Given the description of an element on the screen output the (x, y) to click on. 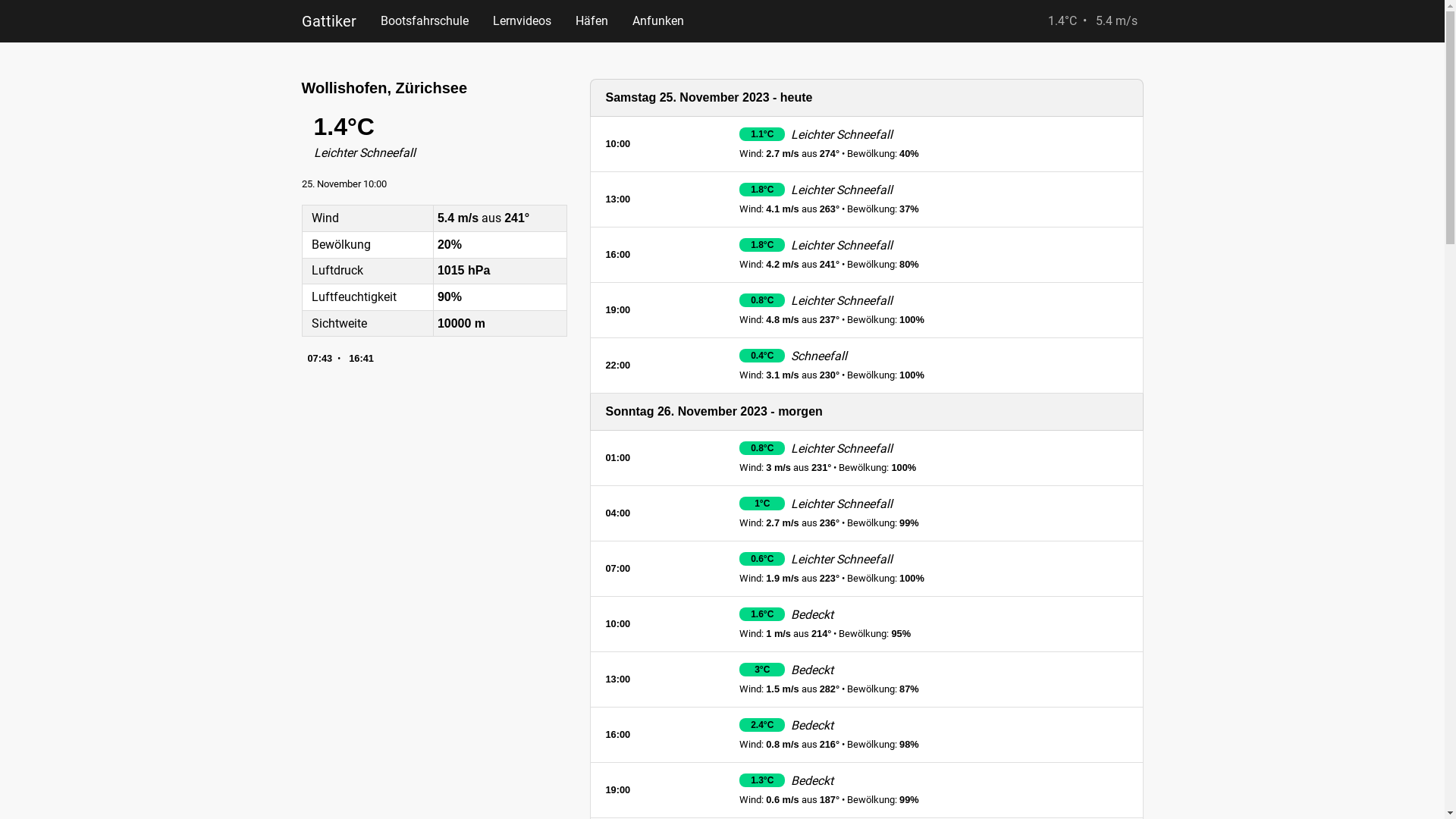
Lernvideos Element type: text (521, 21)
Gattiker Element type: text (328, 21)
Bootsfahrschule Element type: text (424, 21)
Anfunken Element type: text (658, 21)
